Given the description of an element on the screen output the (x, y) to click on. 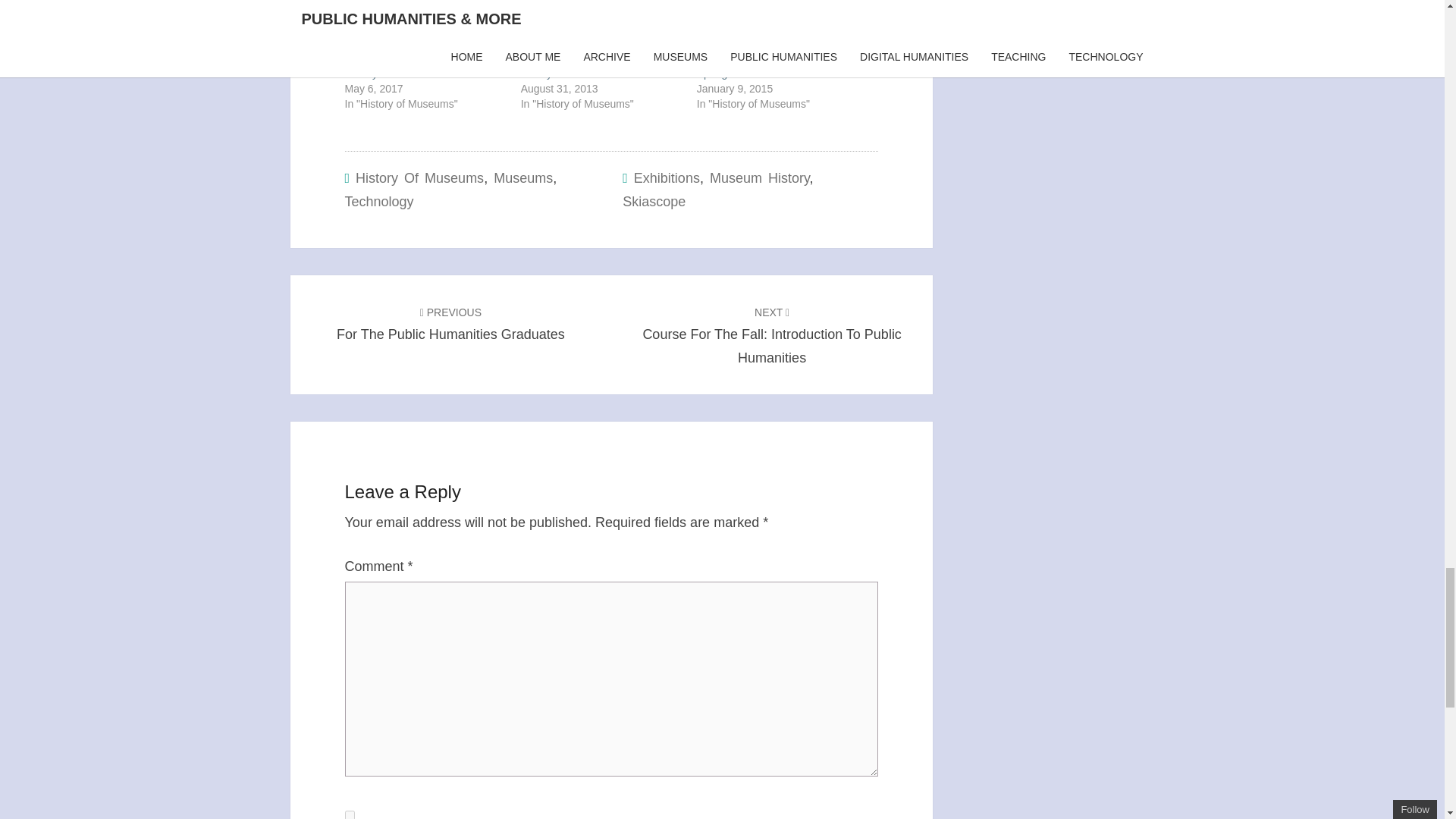
Museum History (759, 177)
Exhibitions (666, 177)
History museums, learning from history (600, 65)
Lost Museums, in Museum History Journal (422, 65)
History Of Museums (771, 334)
History museums, learning from history (419, 177)
Lost Museums, in Museum History Journal (600, 65)
Skiascope (422, 65)
subscribe (654, 201)
Technology (450, 323)
Museums (348, 814)
